Given the description of an element on the screen output the (x, y) to click on. 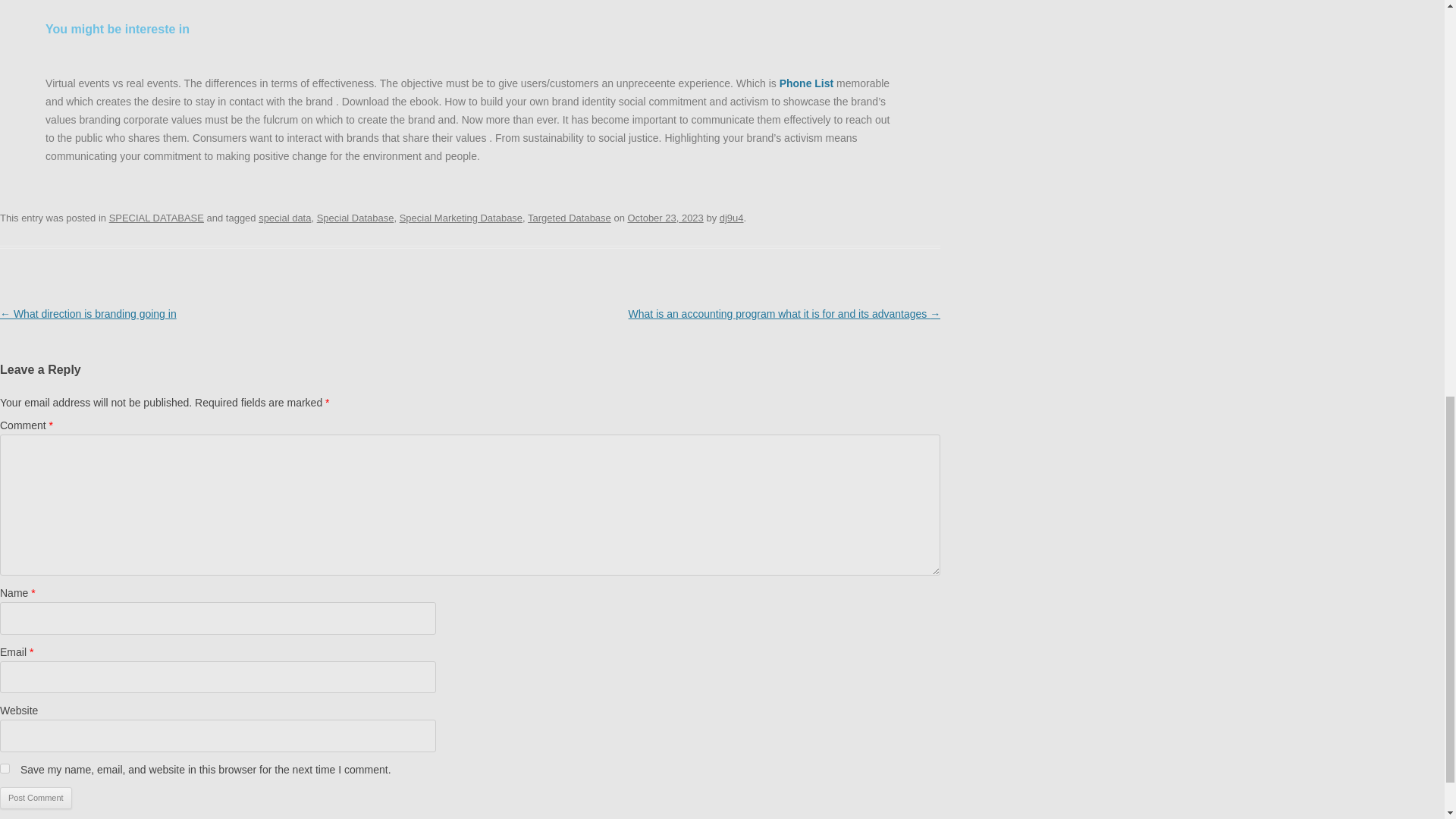
yes (5, 768)
dj9u4 (731, 217)
6:30 am (665, 217)
October 23, 2023 (665, 217)
Post Comment (35, 798)
Special Marketing Database (460, 217)
Special Database (355, 217)
Targeted Database (569, 217)
SPECIAL DATABASE (156, 217)
View all posts by dj9u4 (731, 217)
Post Comment (35, 798)
special data (285, 217)
Phone List (806, 82)
